Given the description of an element on the screen output the (x, y) to click on. 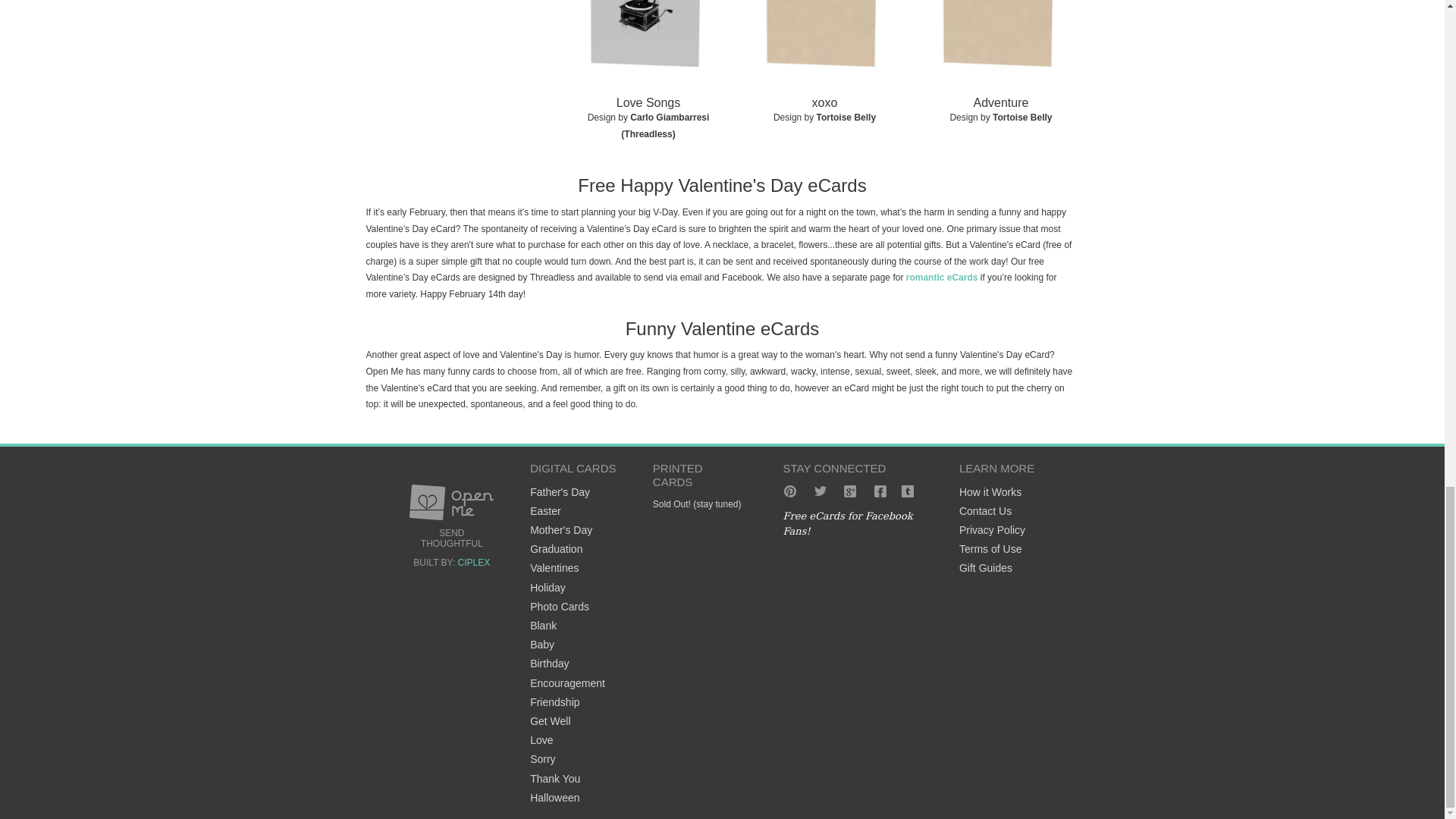
Follow on Facebook (879, 491)
Follow on Twitter (820, 491)
Follow on Google (849, 491)
Follow on Tumblr (909, 491)
Follow on Pinterest (789, 491)
